Given the description of an element on the screen output the (x, y) to click on. 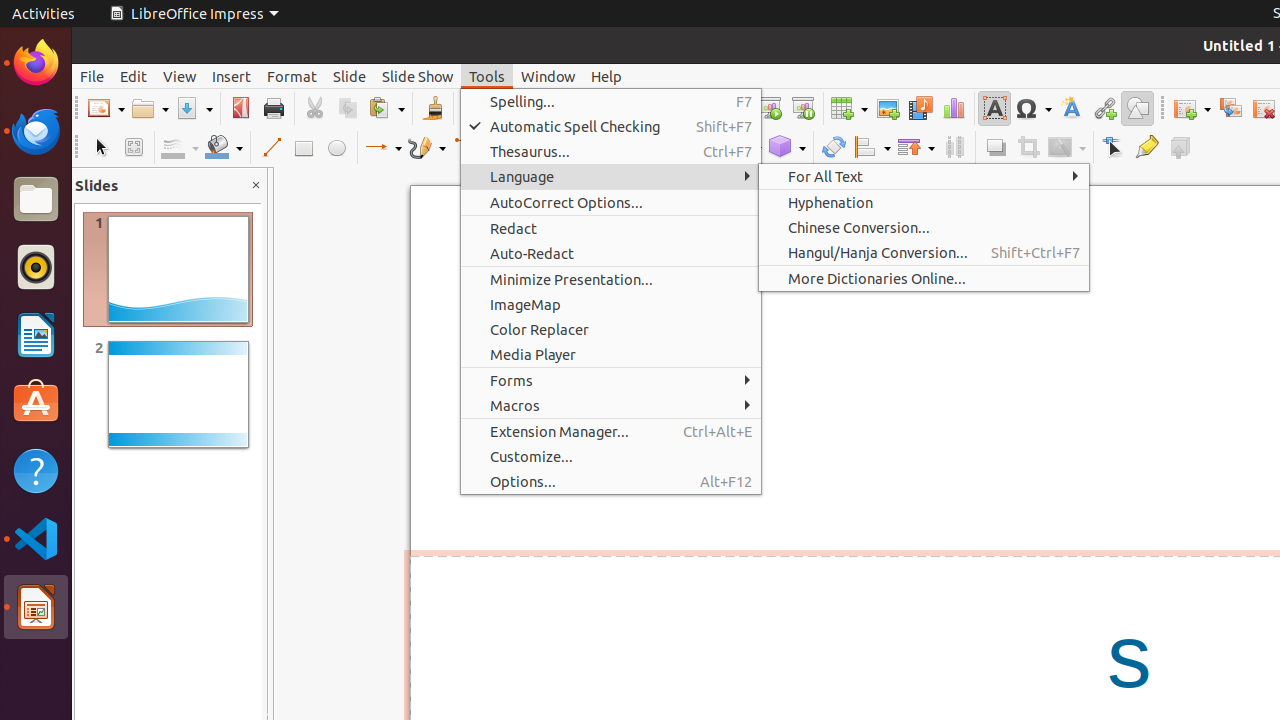
Options... Element type: menu-item (611, 481)
Thesaurus... Element type: menu-item (611, 151)
Tools Element type: menu (487, 76)
Files Element type: push-button (36, 199)
